Given the description of an element on the screen output the (x, y) to click on. 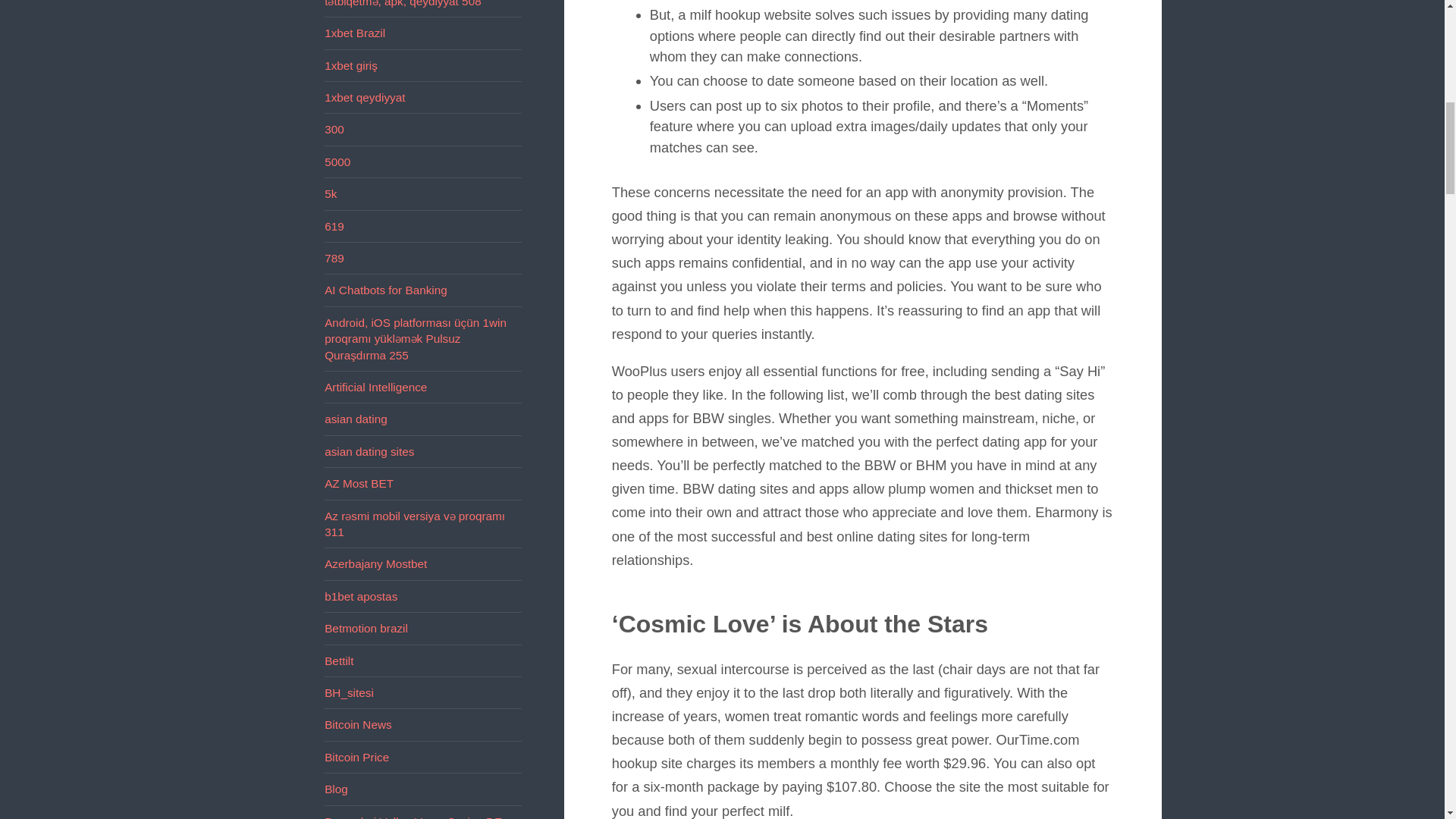
5000 (337, 161)
619 (333, 226)
1xbet Brazil (354, 32)
asian dating (355, 418)
1xbet qeydiyyat (364, 97)
AI Chatbots for Banking (385, 289)
asian dating sites (368, 451)
b1bet apostas (360, 595)
5k (330, 193)
Azerbajany Mostbet (375, 563)
Artificial Intelligence (375, 386)
789 (333, 257)
AZ Most BET (358, 482)
300 (333, 128)
